Given the description of an element on the screen output the (x, y) to click on. 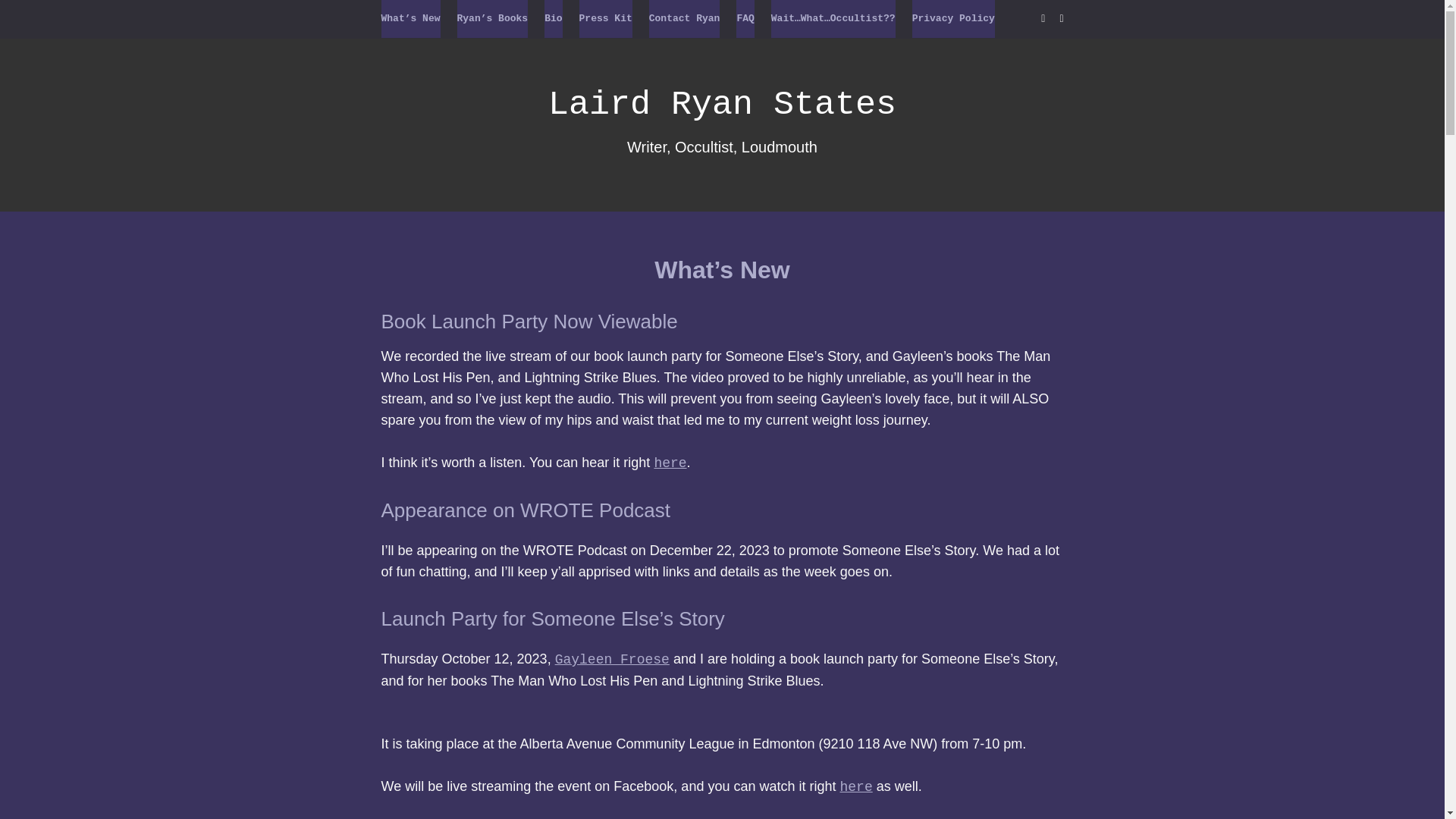
Gayleen Froese (611, 659)
Contact Ryan (684, 18)
here (669, 462)
here (856, 786)
Privacy Policy (953, 18)
Press Kit (605, 18)
